Given the description of an element on the screen output the (x, y) to click on. 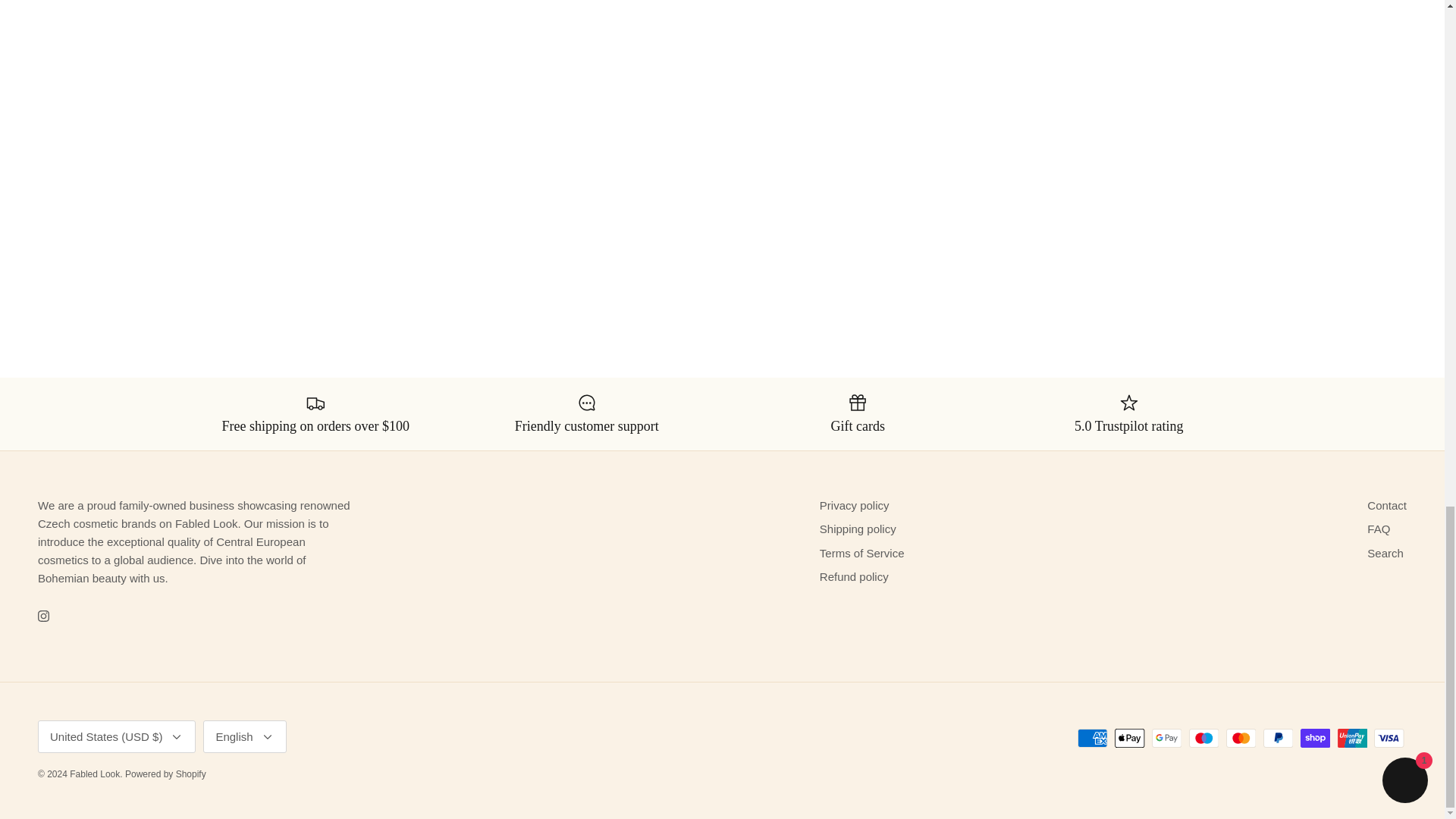
Instagram (43, 615)
American Express (1092, 737)
Apple Pay (1129, 737)
